Given the description of an element on the screen output the (x, y) to click on. 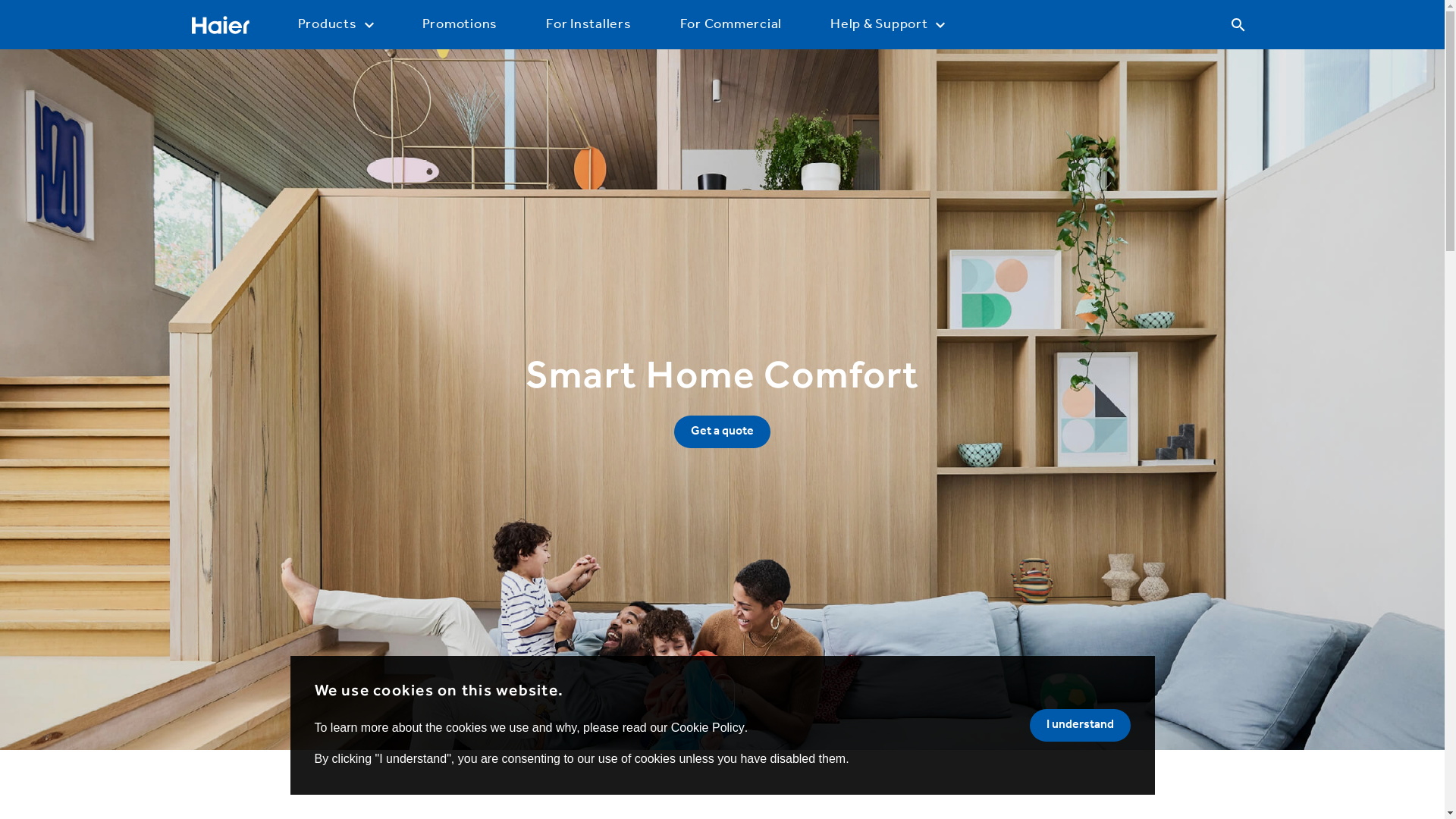
Help & Support Element type: text (887, 24)
For Installers Element type: text (588, 24)
Haier Home AU Element type: hover (219, 24)
For Commercial Element type: text (730, 24)
Get a quote Element type: text (722, 431)
Products Element type: text (335, 24)
Promotions Element type: text (459, 24)
Cookie Policy Element type: text (707, 727)
I understand Element type: text (1079, 725)
